Given the description of an element on the screen output the (x, y) to click on. 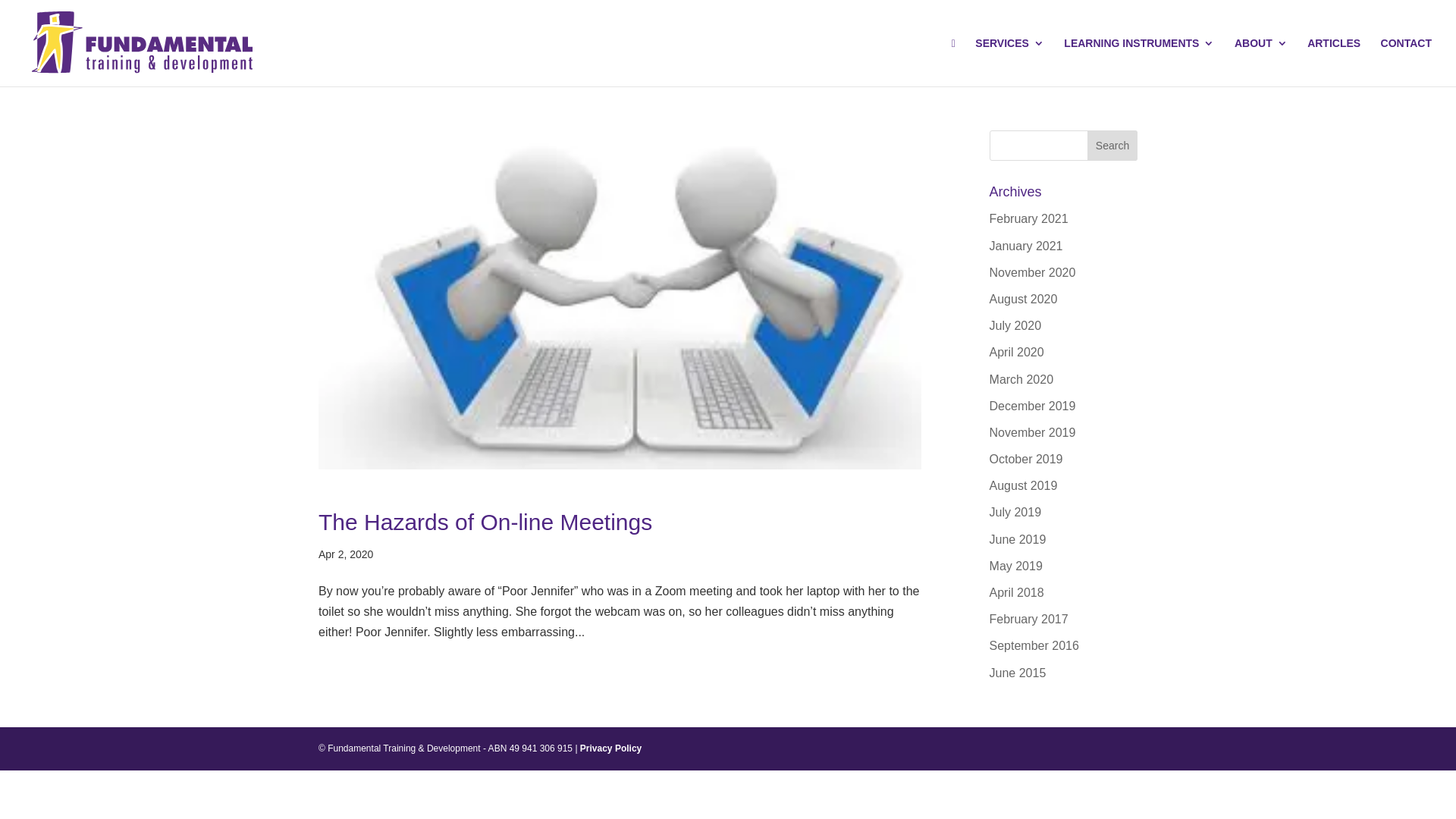
May 2019 Element type: text (1015, 565)
The Hazards of On-line Meetings Element type: text (485, 521)
January 2021 Element type: text (1026, 245)
LEARNING INSTRUMENTS Element type: text (1138, 61)
March 2020 Element type: text (1021, 379)
SERVICES Element type: text (1009, 61)
April 2020 Element type: text (1016, 351)
June 2019 Element type: text (1017, 539)
February 2021 Element type: text (1028, 218)
CONTACT Element type: text (1405, 61)
November 2019 Element type: text (1032, 432)
November 2020 Element type: text (1032, 272)
Privacy Policy Element type: text (610, 748)
June 2015 Element type: text (1017, 672)
August 2019 Element type: text (1023, 485)
October 2019 Element type: text (1026, 458)
Search Element type: text (1112, 145)
September 2016 Element type: text (1034, 645)
February 2017 Element type: text (1028, 618)
August 2020 Element type: text (1023, 298)
July 2020 Element type: text (1015, 325)
ABOUT Element type: text (1260, 61)
July 2019 Element type: text (1015, 511)
December 2019 Element type: text (1032, 405)
ARTICLES Element type: text (1333, 61)
April 2018 Element type: text (1016, 592)
